Given the description of an element on the screen output the (x, y) to click on. 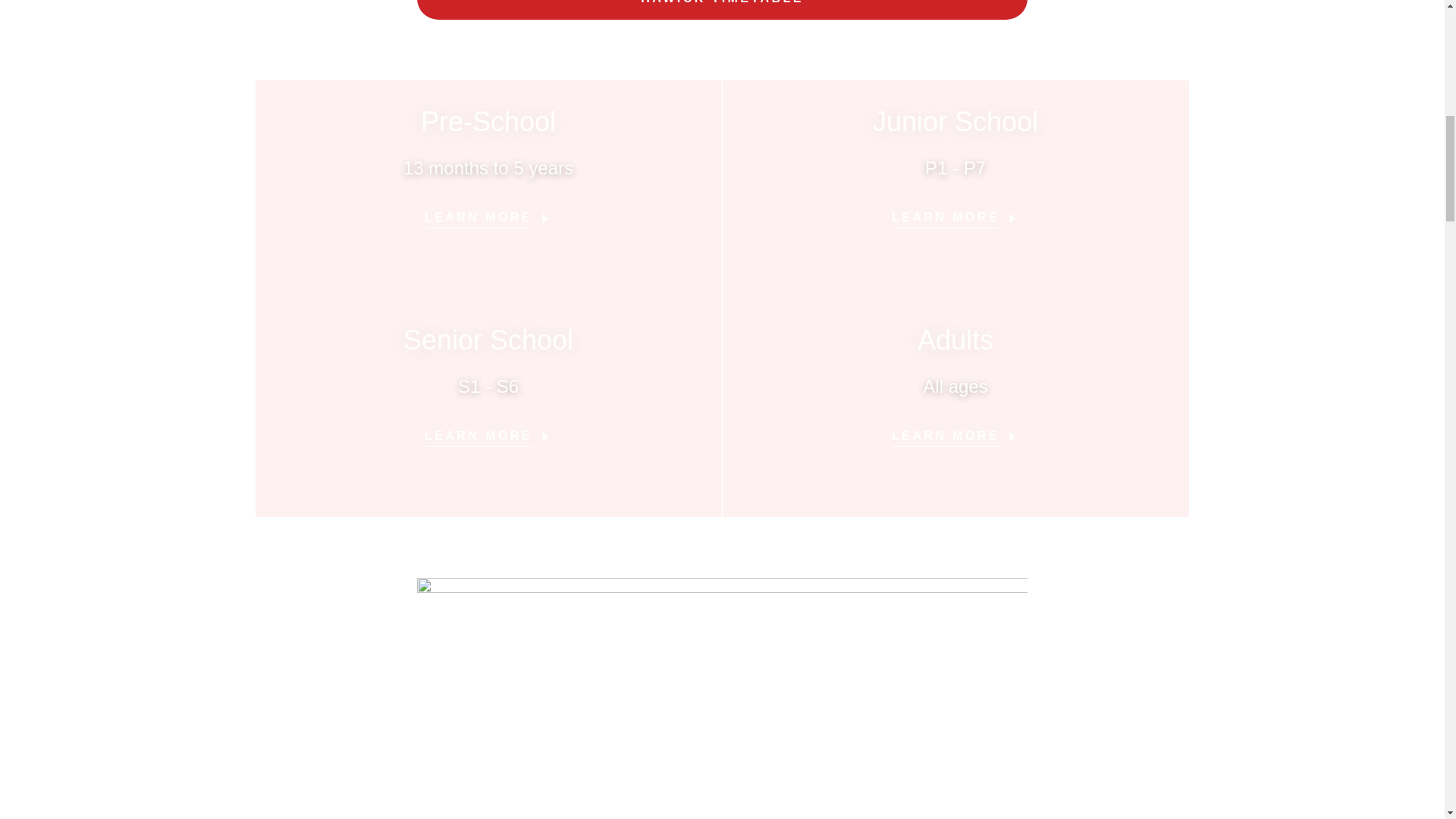
HAWICK TIMETABLE (721, 9)
LEARN MORE (955, 213)
LEARN MORE (488, 213)
